Given the description of an element on the screen output the (x, y) to click on. 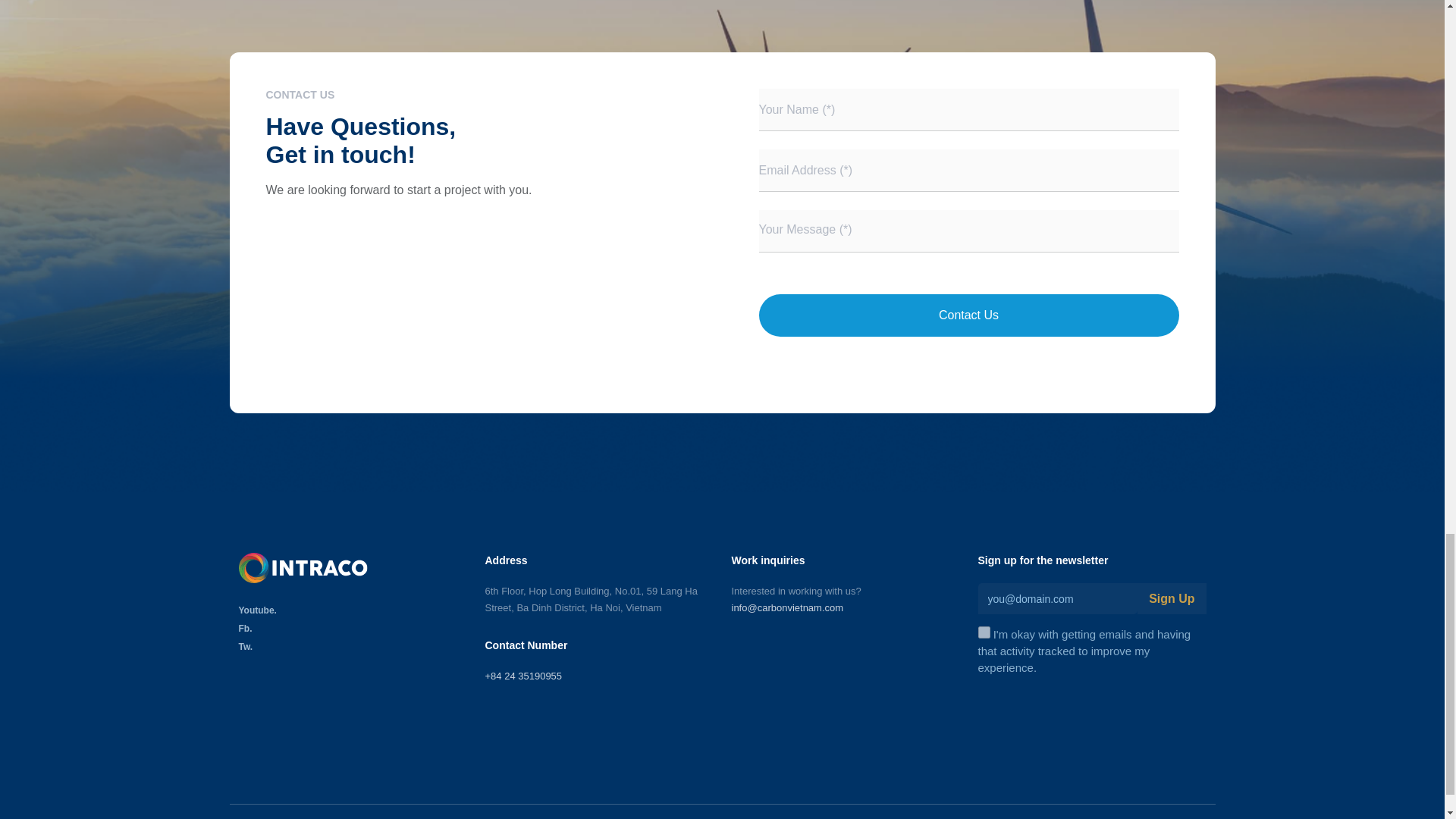
Contact Us (967, 315)
Sign Up (1171, 598)
Tw. (351, 646)
Youtube. (351, 610)
Fb. (351, 628)
Contact Us (967, 315)
